Given the description of an element on the screen output the (x, y) to click on. 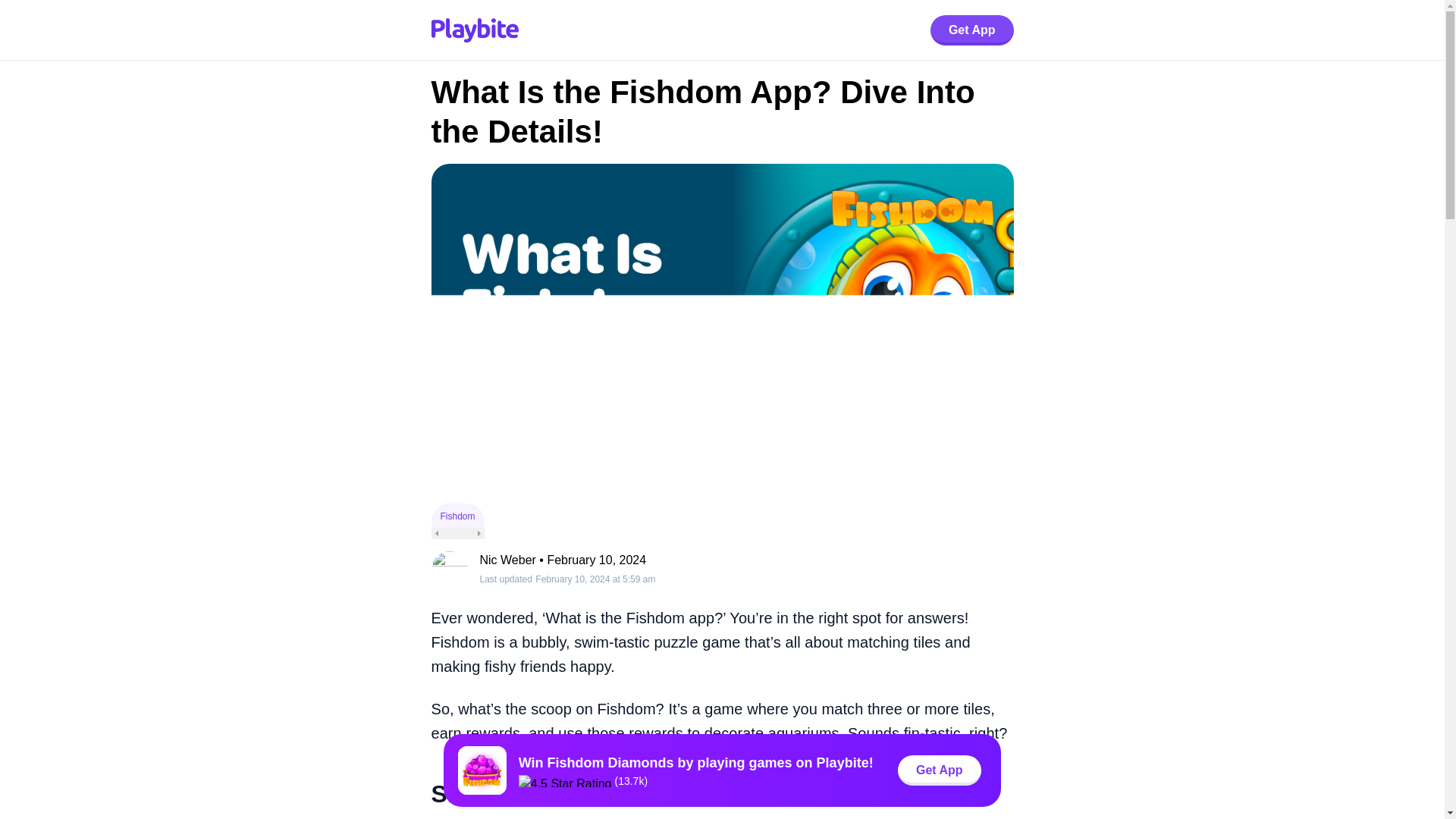
Fishdom (456, 516)
Nic Weber (507, 559)
Fishdom (456, 520)
Get App (939, 770)
Get App (971, 29)
Get App (971, 30)
